Given the description of an element on the screen output the (x, y) to click on. 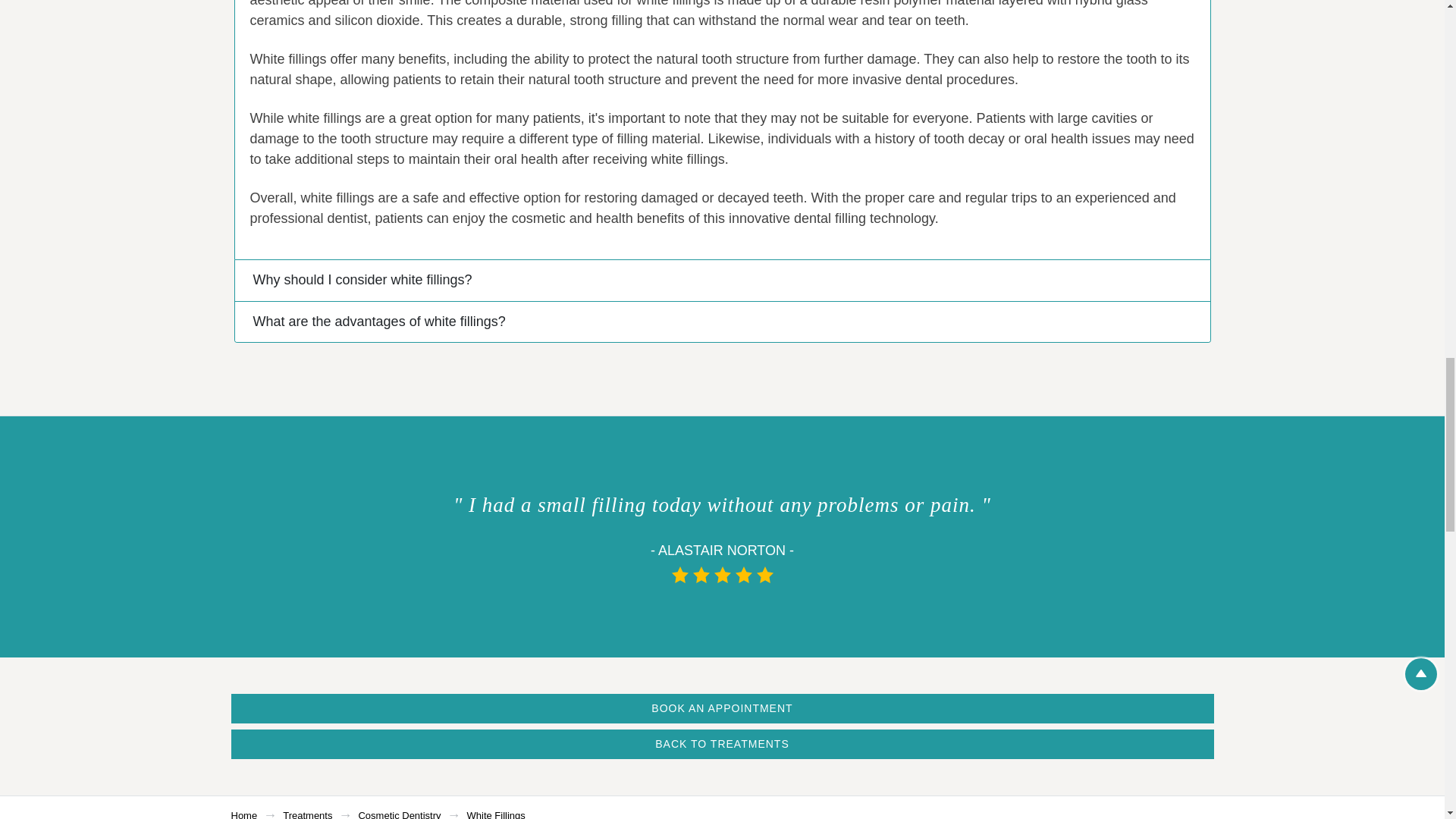
BOOK AN APPOINTMENT (721, 708)
Home (243, 814)
Cosmetic Dentistry (399, 814)
Why should I consider white fillings? (721, 280)
What are the advantages of white fillings? (721, 322)
BACK TO TREATMENTS (721, 744)
White Fillings (496, 814)
Treatments (306, 814)
